Given the description of an element on the screen output the (x, y) to click on. 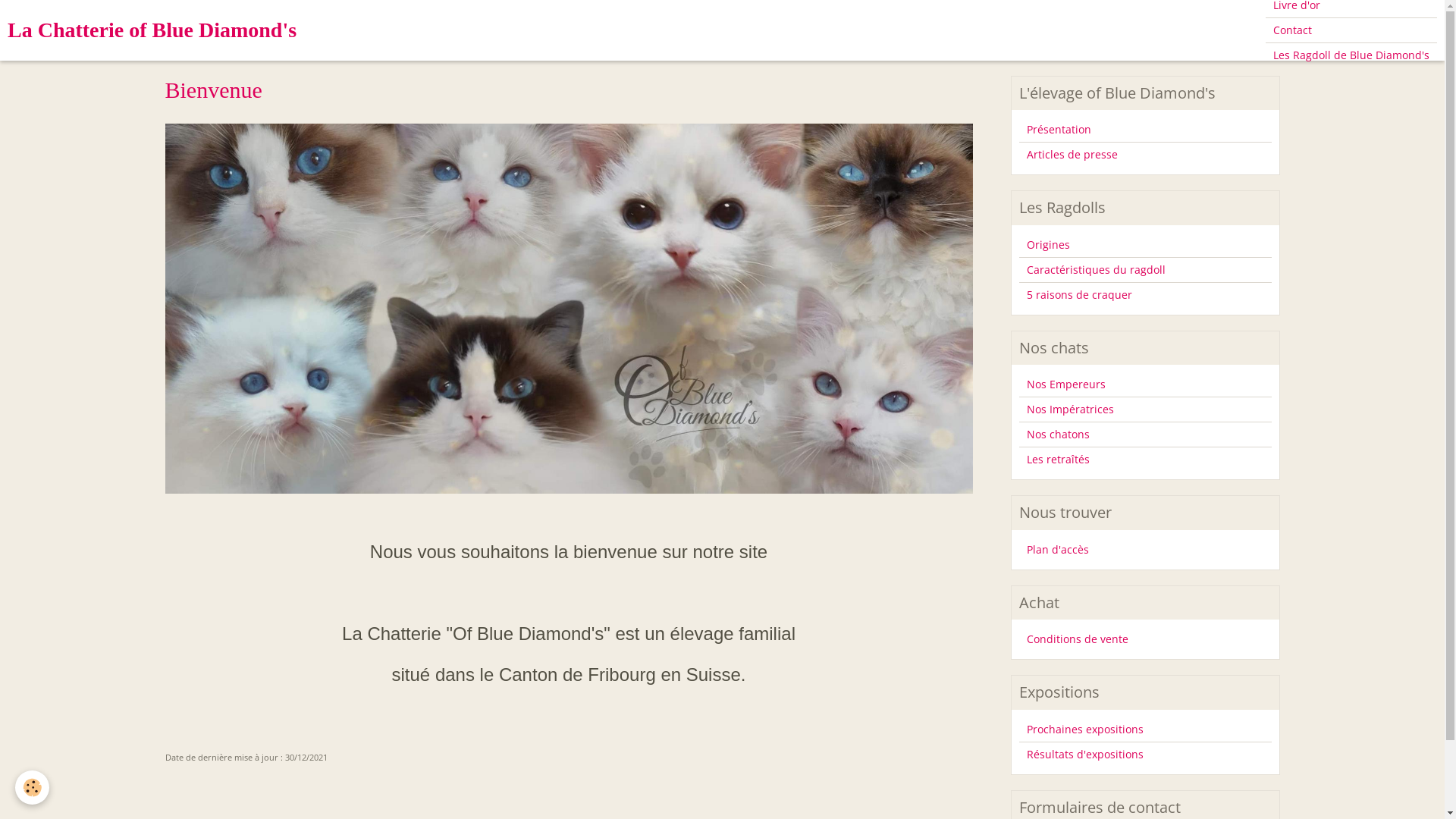
5 raisons de craquer Element type: text (1145, 294)
Origines Element type: text (1145, 244)
Les Ragdolls Element type: text (1062, 207)
Articles de presse Element type: text (1145, 154)
Expositions Element type: text (1059, 691)
Conditions de vente Element type: text (1145, 639)
Contact Element type: text (1351, 30)
Nos chatons Element type: text (1145, 434)
Les Ragdoll de Blue Diamond's Element type: text (1351, 55)
La Chatterie of Blue Diamond's Element type: text (152, 30)
Nous trouver Element type: text (1065, 512)
Achat Element type: text (1039, 602)
Nos Empereurs Element type: text (1145, 384)
Prochaines expositions Element type: text (1145, 729)
Nos chats Element type: text (1053, 347)
